Given the description of an element on the screen output the (x, y) to click on. 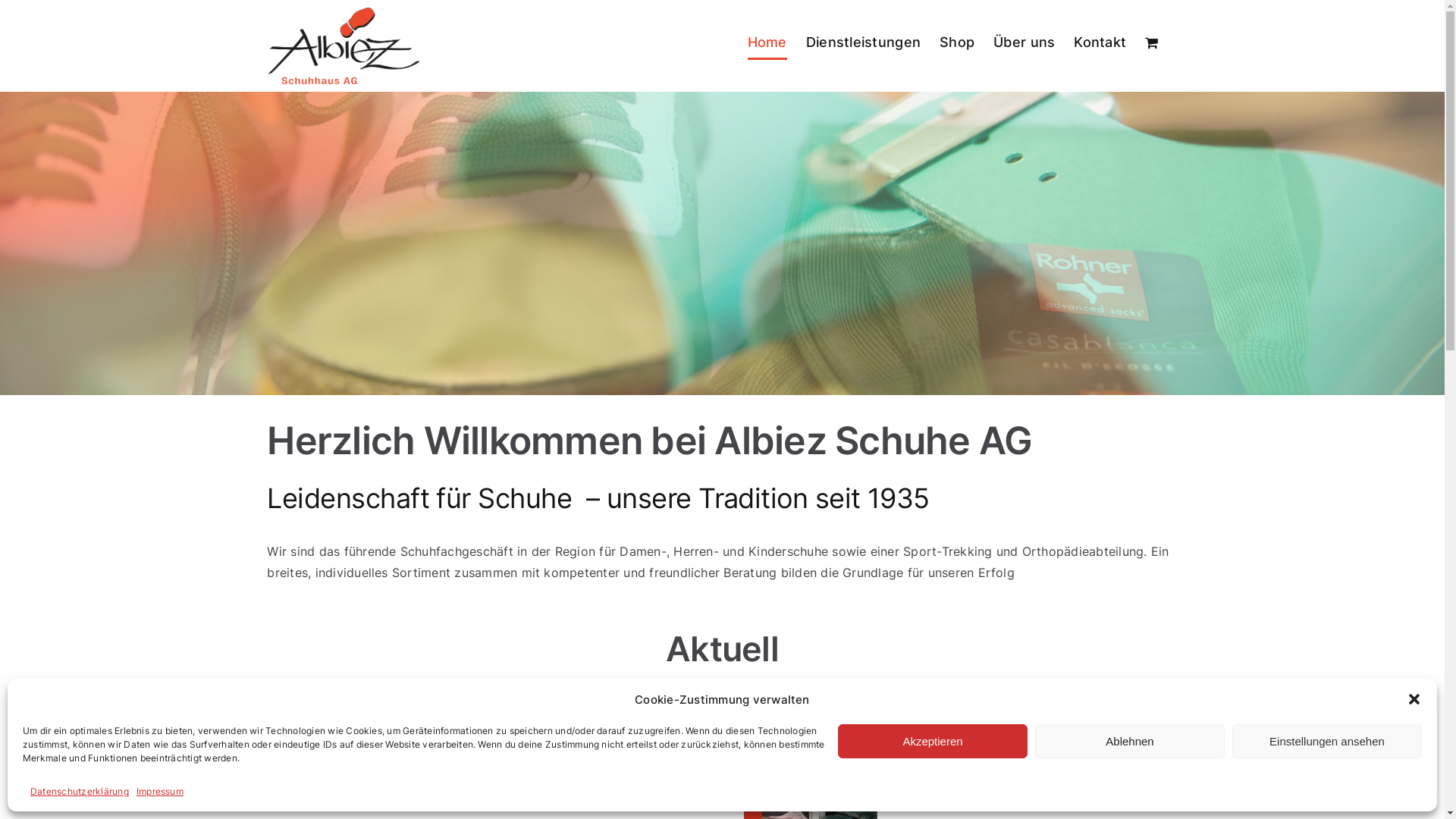
Shop Element type: text (956, 42)
Kontakt Element type: text (1099, 42)
Detailhandelslehre EFZ ab August 2024 Element type: text (680, 722)
Einstellungen ansehen Element type: text (1326, 741)
Ablehnen Element type: text (1129, 741)
Impressum Element type: text (159, 792)
Dienstleistungen Element type: text (863, 42)
Akzeptieren Element type: text (932, 741)
Home Element type: text (767, 42)
